Given the description of an element on the screen output the (x, y) to click on. 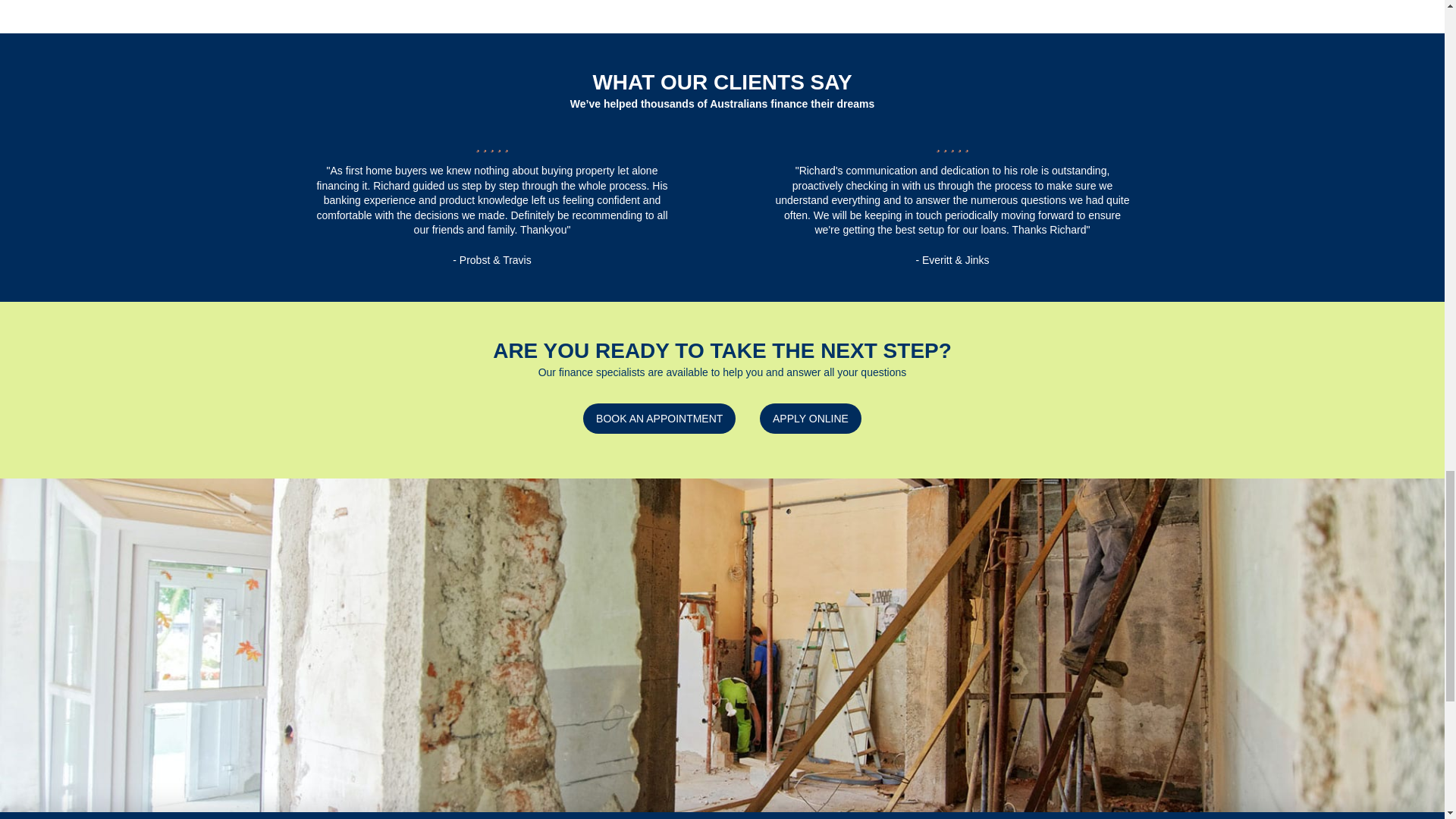
APPLY ONLINE (810, 418)
BOOK AN APPOINTMENT (659, 418)
